Given the description of an element on the screen output the (x, y) to click on. 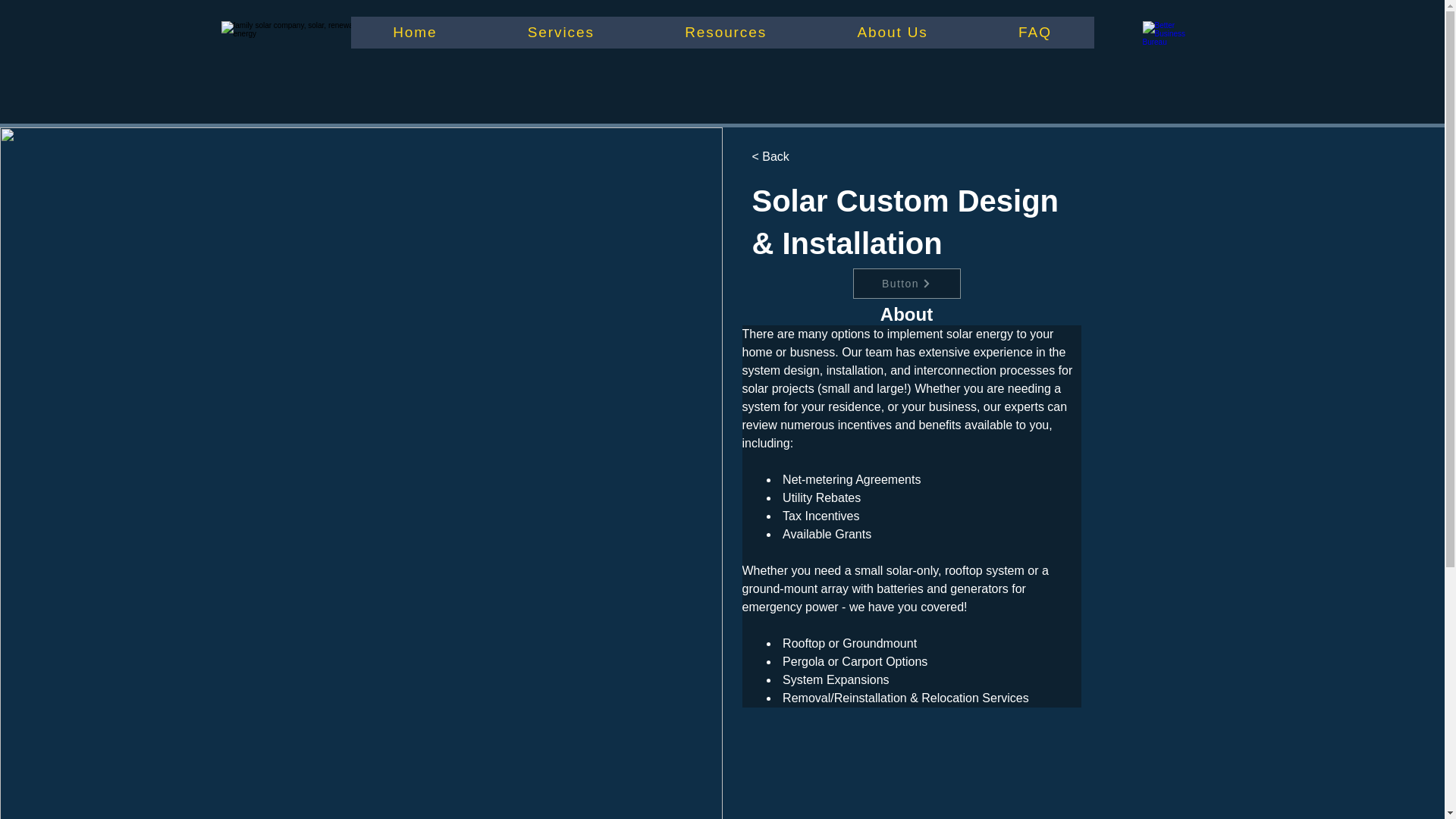
Button (905, 283)
FAQ (1034, 32)
About Us (893, 32)
